Given the description of an element on the screen output the (x, y) to click on. 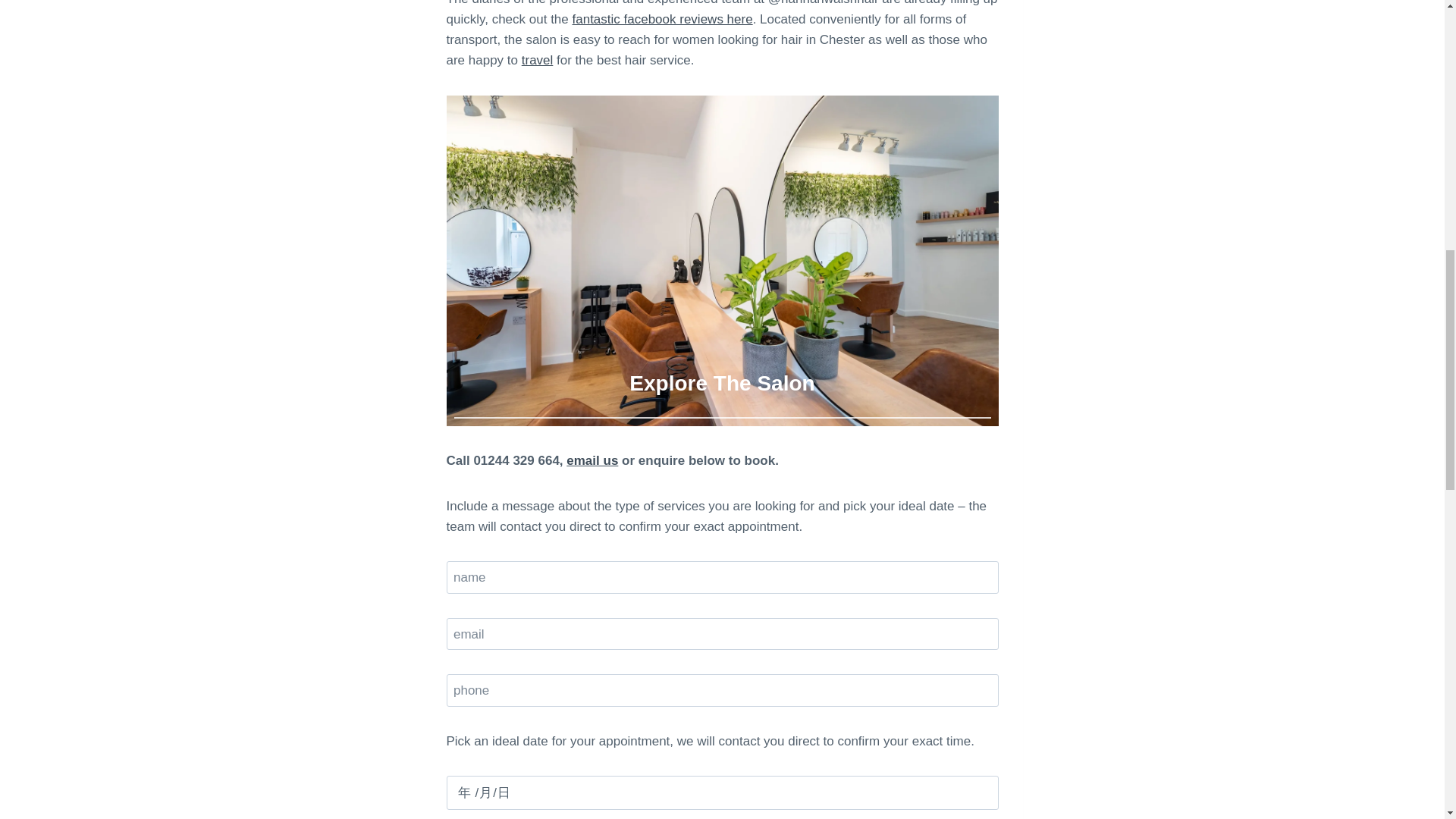
email us (591, 460)
fantastic facebook reviews here (662, 19)
travel (537, 60)
